Given the description of an element on the screen output the (x, y) to click on. 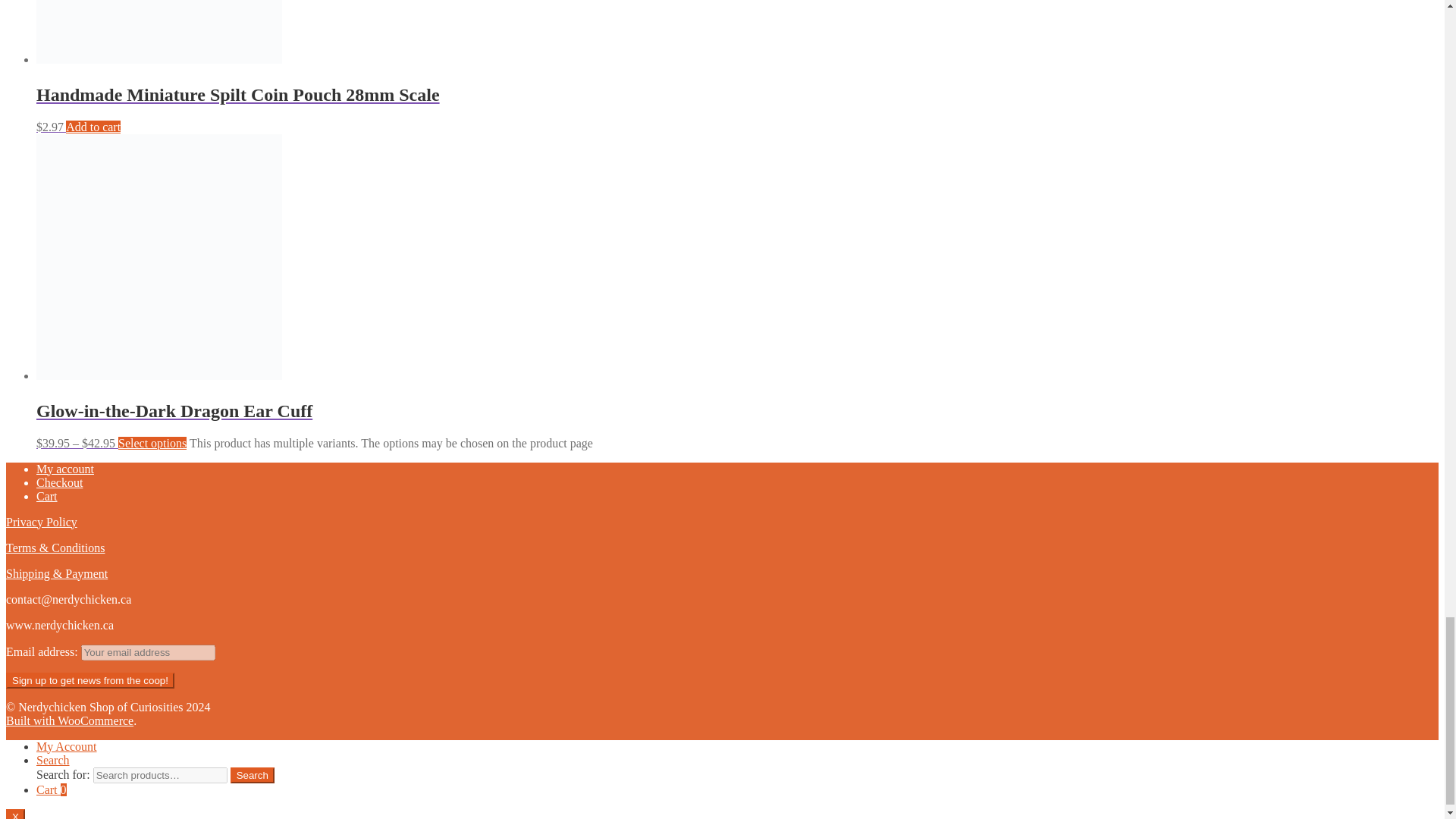
WooCommerce - The Best eCommerce Platform for WordPress (69, 720)
Sign up to get news from the coop! (89, 680)
